Given the description of an element on the screen output the (x, y) to click on. 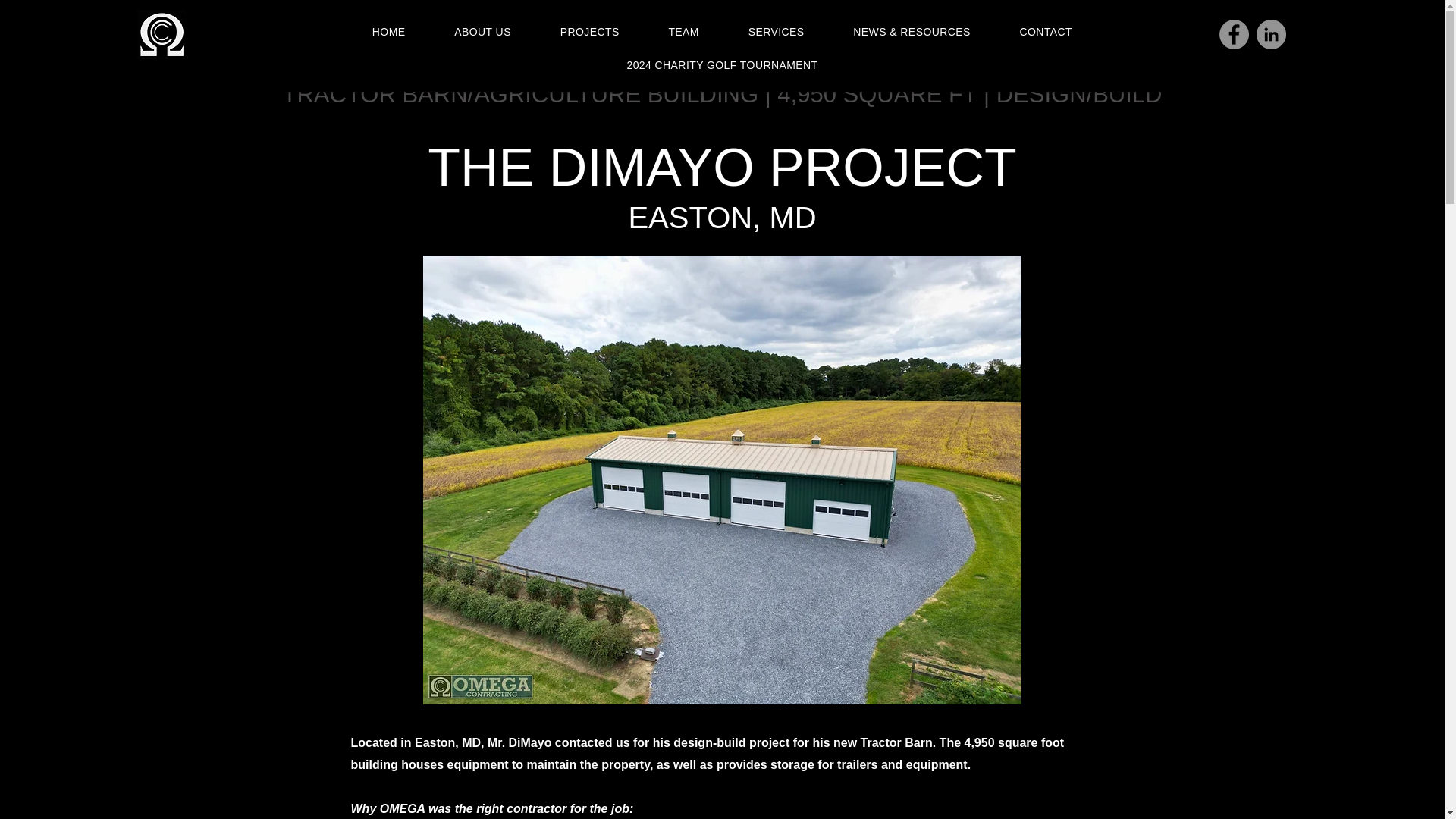
HOME (388, 31)
TEAM (683, 31)
CONTACT (1045, 31)
SERVICES (775, 31)
PROJECTS (589, 31)
2024 CHARITY GOLF TOURNAMENT (721, 64)
ABOUT US (482, 31)
